Given the description of an element on the screen output the (x, y) to click on. 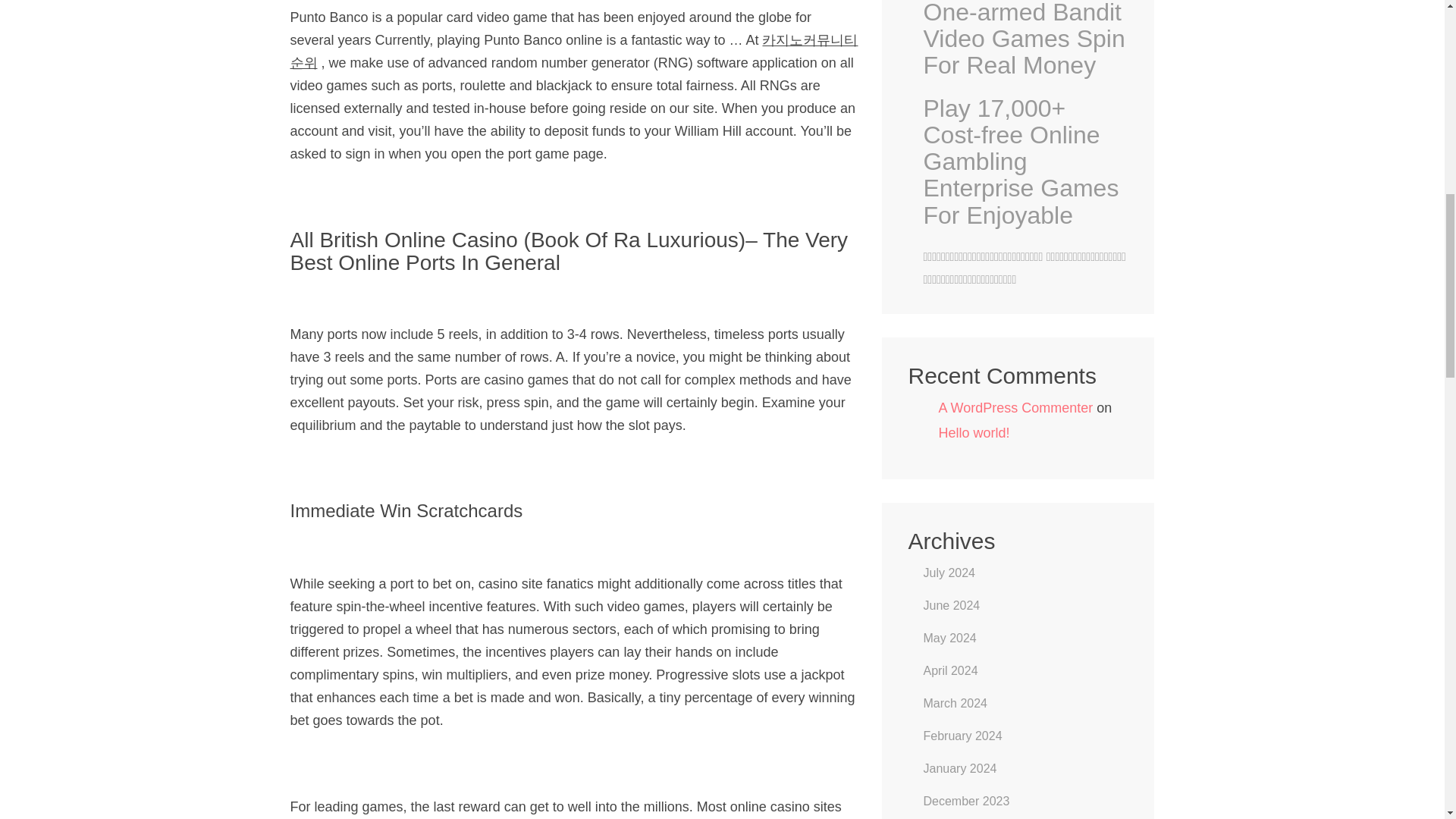
June 2024 (951, 604)
July 2024 (949, 572)
Hello world! (974, 432)
May 2024 (949, 637)
A WordPress Commenter (1016, 407)
